Given the description of an element on the screen output the (x, y) to click on. 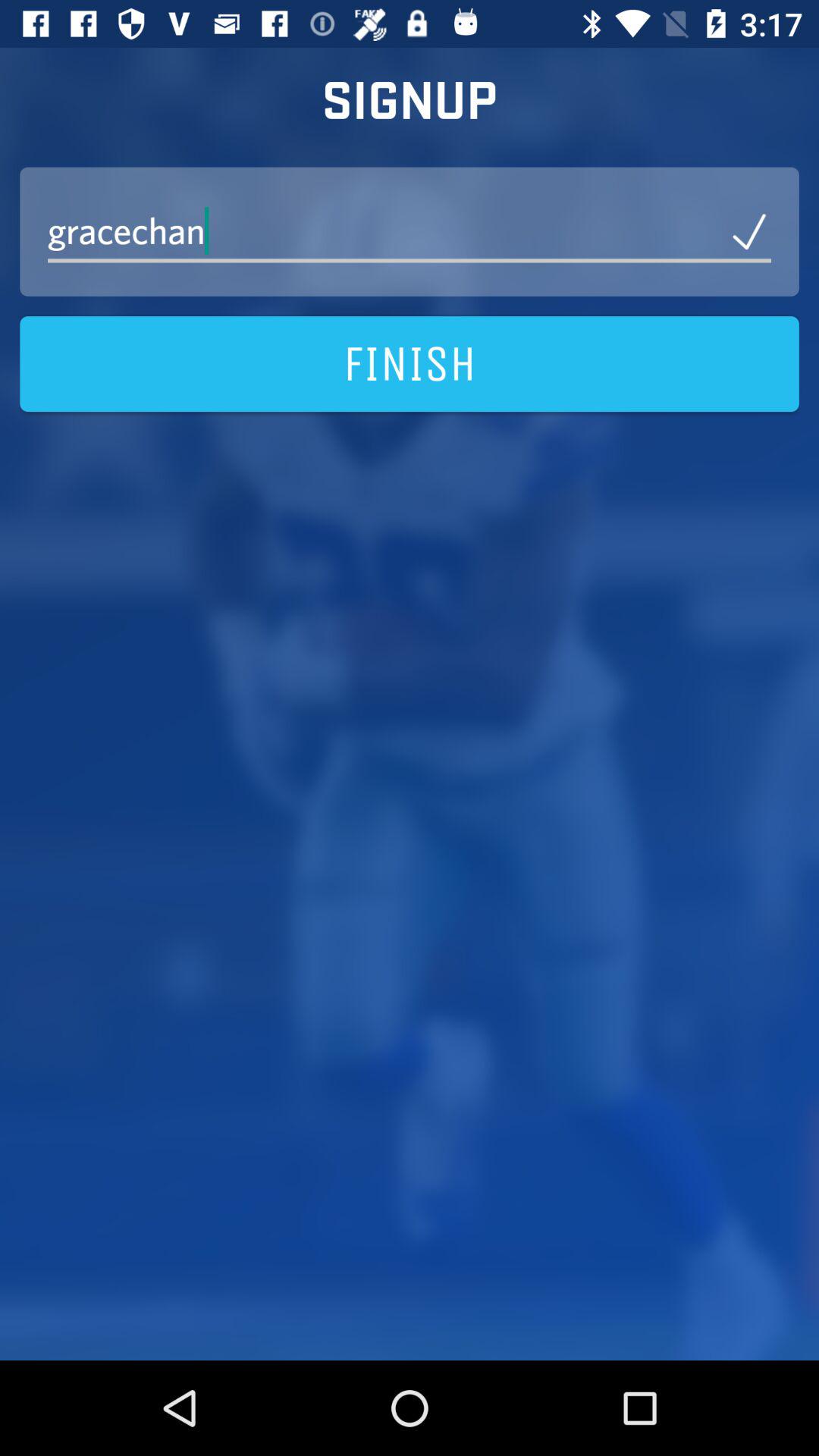
swipe until finish icon (409, 363)
